Given the description of an element on the screen output the (x, y) to click on. 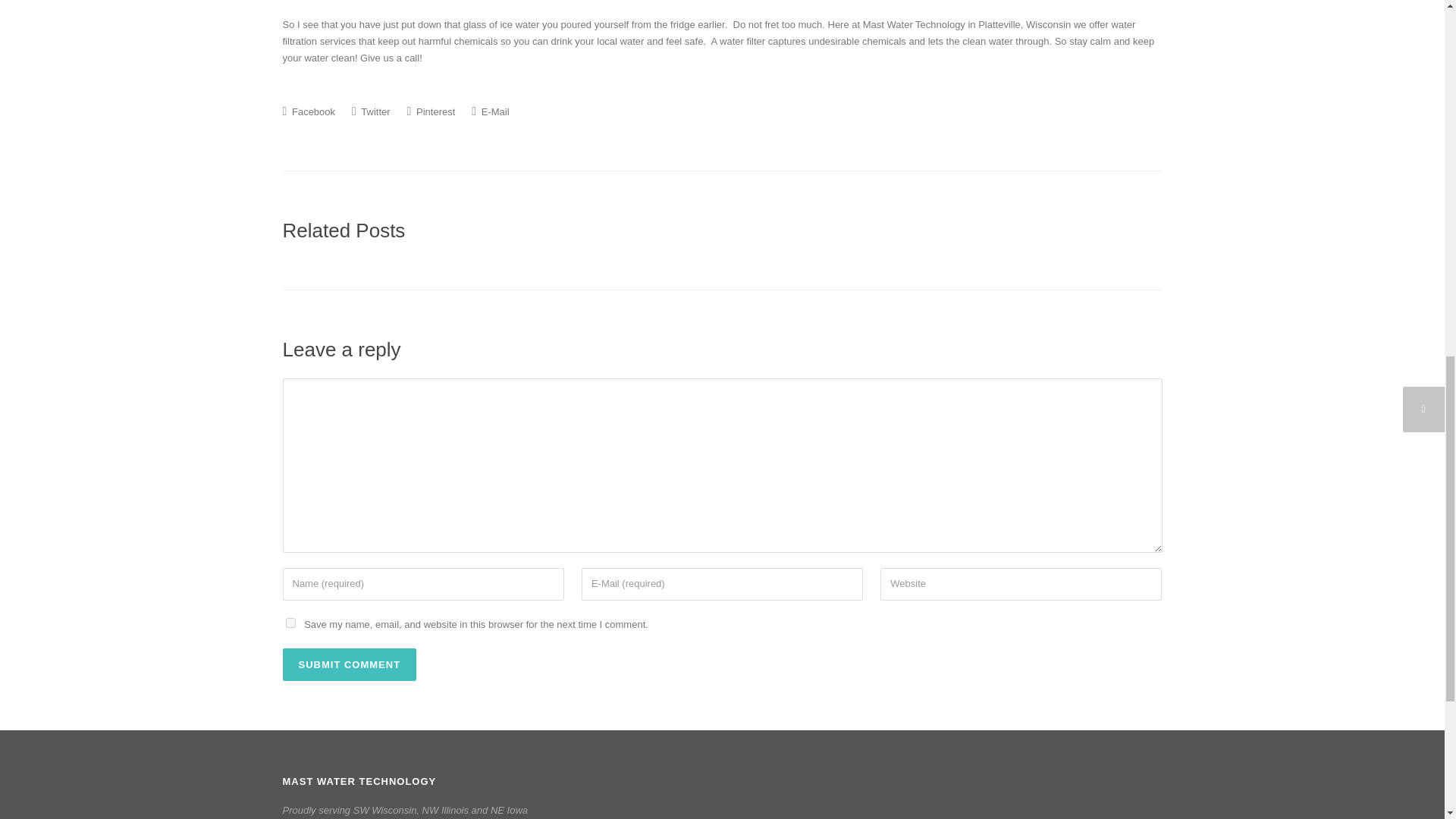
Submit Comment (349, 664)
yes (290, 623)
Pinterest (431, 111)
Twitter (371, 111)
Submit Comment (349, 664)
Website (1020, 584)
E-Mail (489, 111)
Facebook (308, 111)
